Given the description of an element on the screen output the (x, y) to click on. 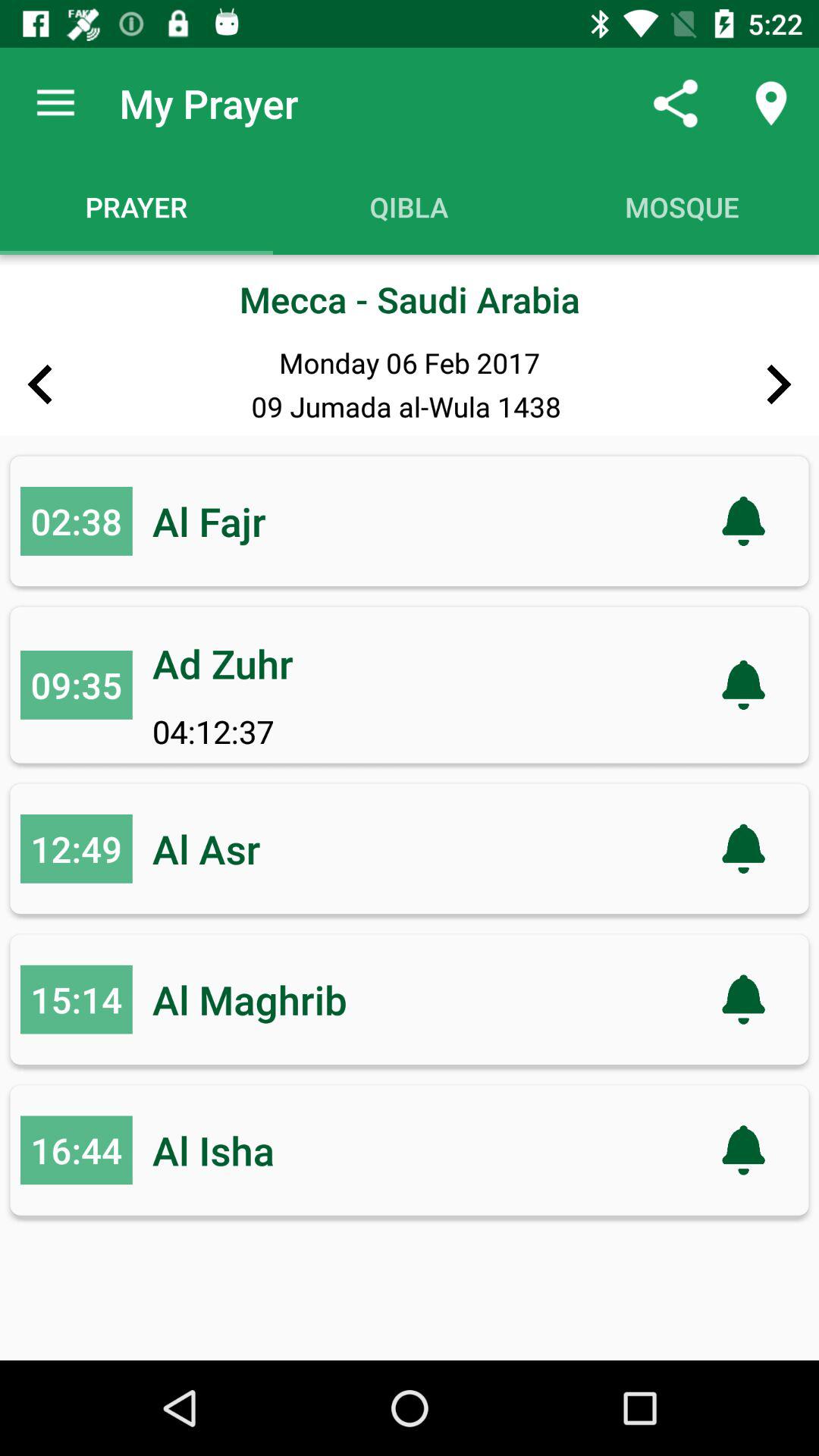
press app next to the my prayer (675, 103)
